Given the description of an element on the screen output the (x, y) to click on. 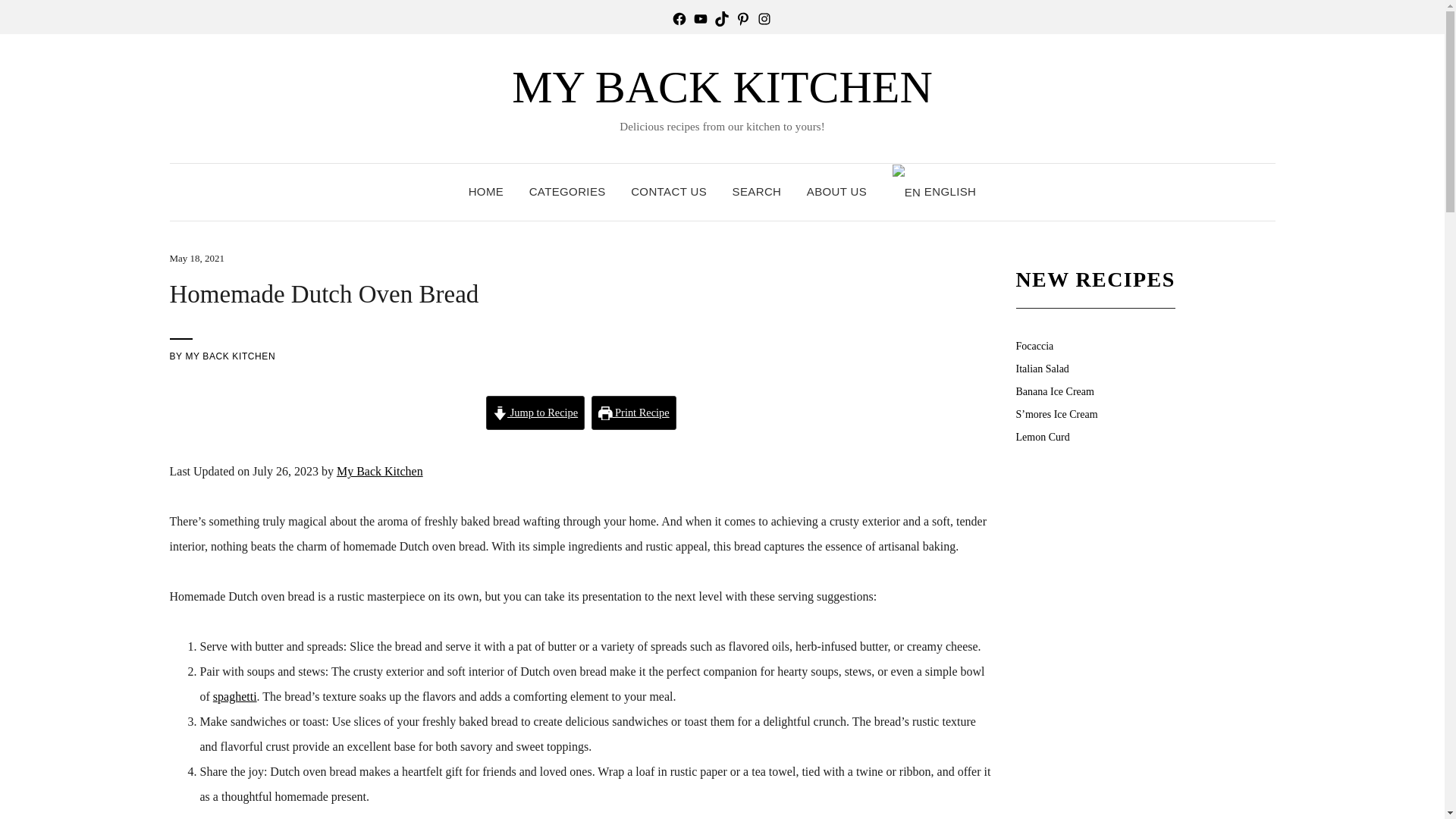
CONTACT US (668, 191)
Pinterest (743, 18)
Banana Ice Cream (1055, 391)
Lemon Curd (1043, 437)
Focaccia (1035, 346)
YouTube (700, 18)
ABOUT US (836, 191)
Italian Salad (1042, 368)
Instagram (764, 18)
HOME (485, 191)
My Back Kitchen (379, 471)
MY BACK KITCHEN (229, 356)
Facebook (679, 18)
SEARCH (756, 191)
Print Recipe (634, 412)
